Given the description of an element on the screen output the (x, y) to click on. 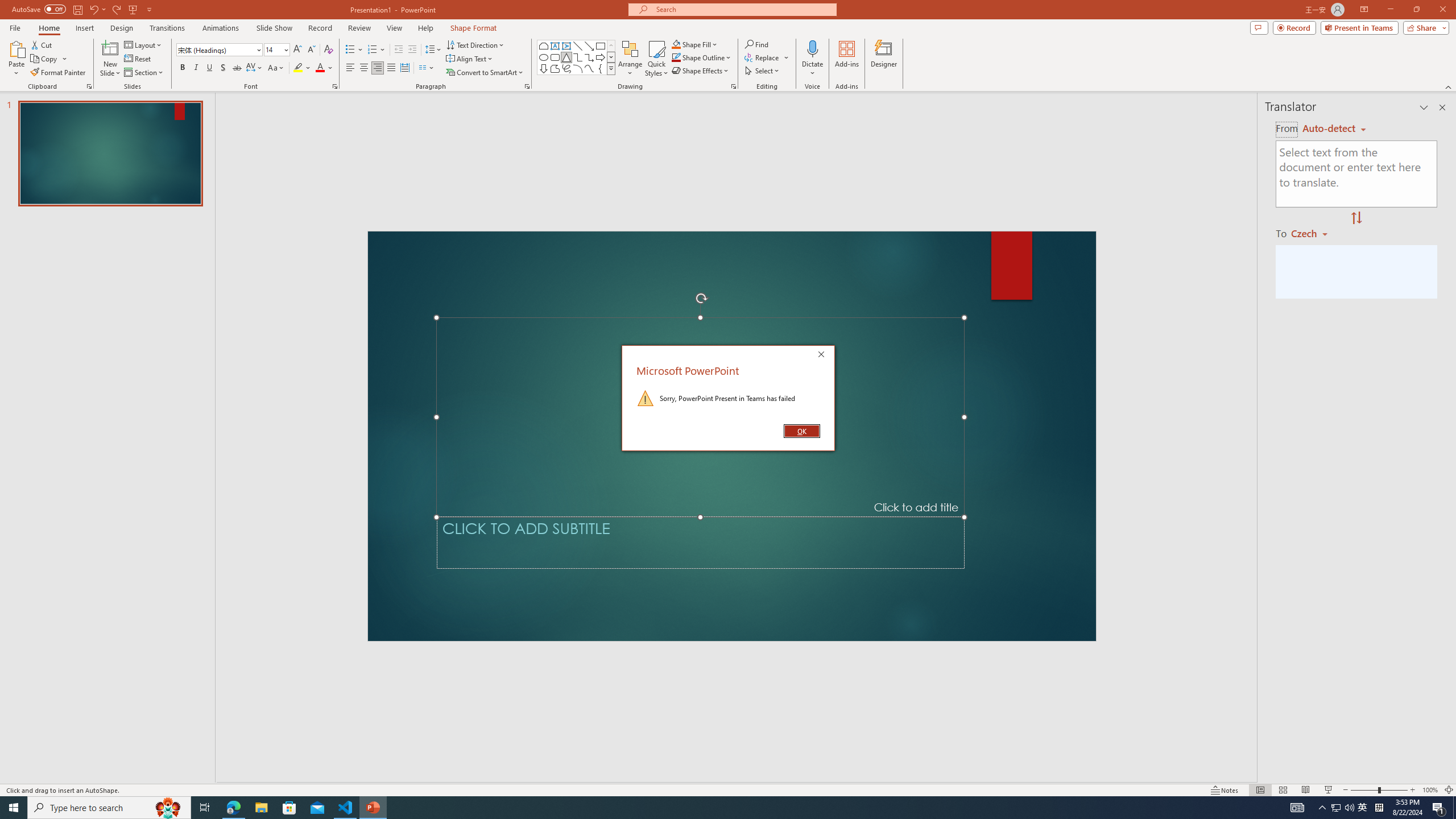
Auto-detect (1334, 128)
